Given the description of an element on the screen output the (x, y) to click on. 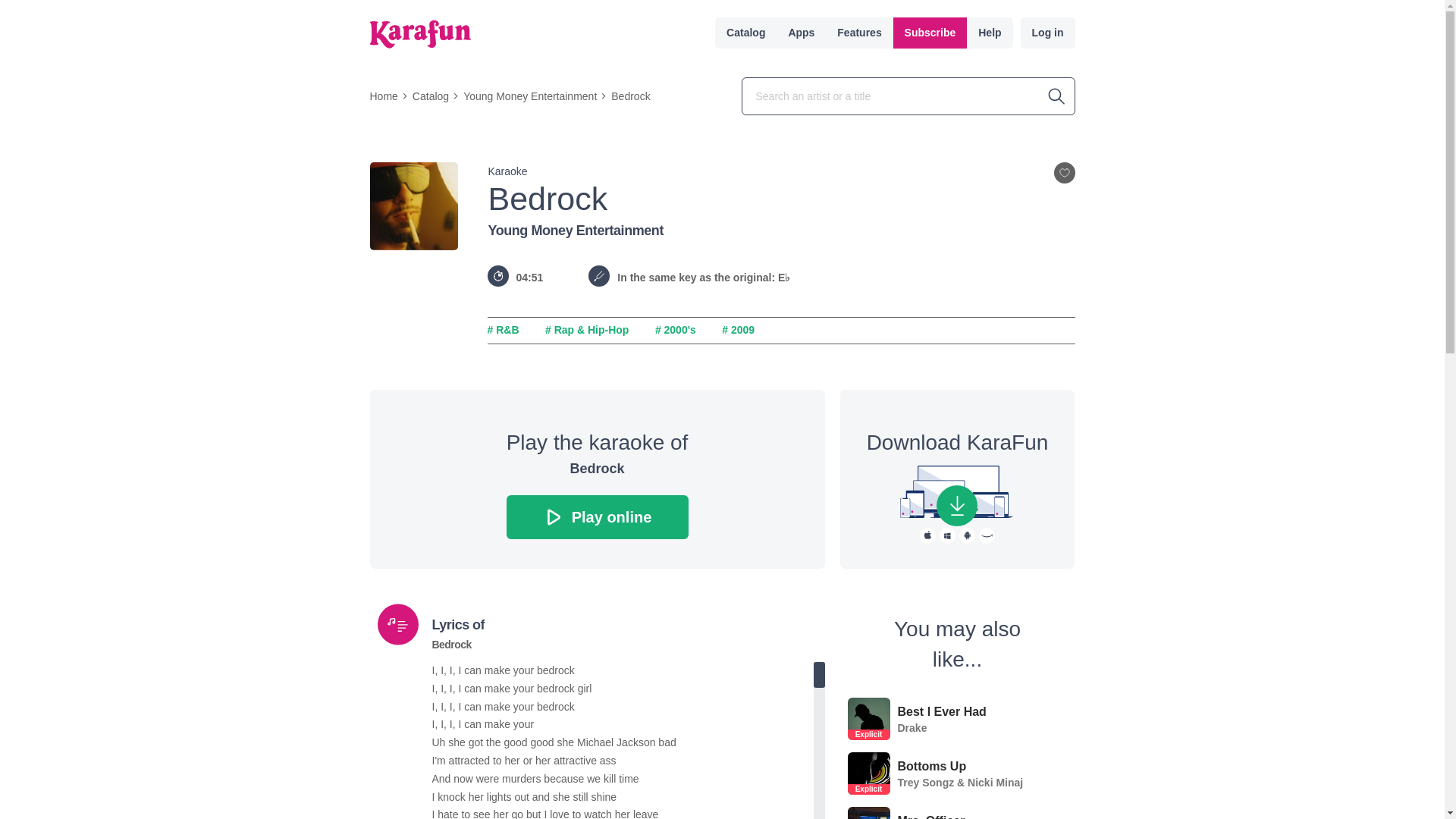
Play online (597, 516)
I'm attracted to her or her attractive ass  (622, 761)
I, I, I, I can make your bedrock  (622, 707)
I, I, I, I can make your bedrock girl  (622, 689)
Log in (1047, 32)
Explicit (868, 788)
I knock her lights out and she still shine  (622, 797)
Home (383, 95)
Back to home page (419, 33)
Back to home page (419, 33)
Best I Ever Had (942, 711)
Explicit (868, 718)
Mrs. Officer (931, 815)
I, I, I, I can make your  (622, 724)
Add to Favorites (1064, 172)
